Given the description of an element on the screen output the (x, y) to click on. 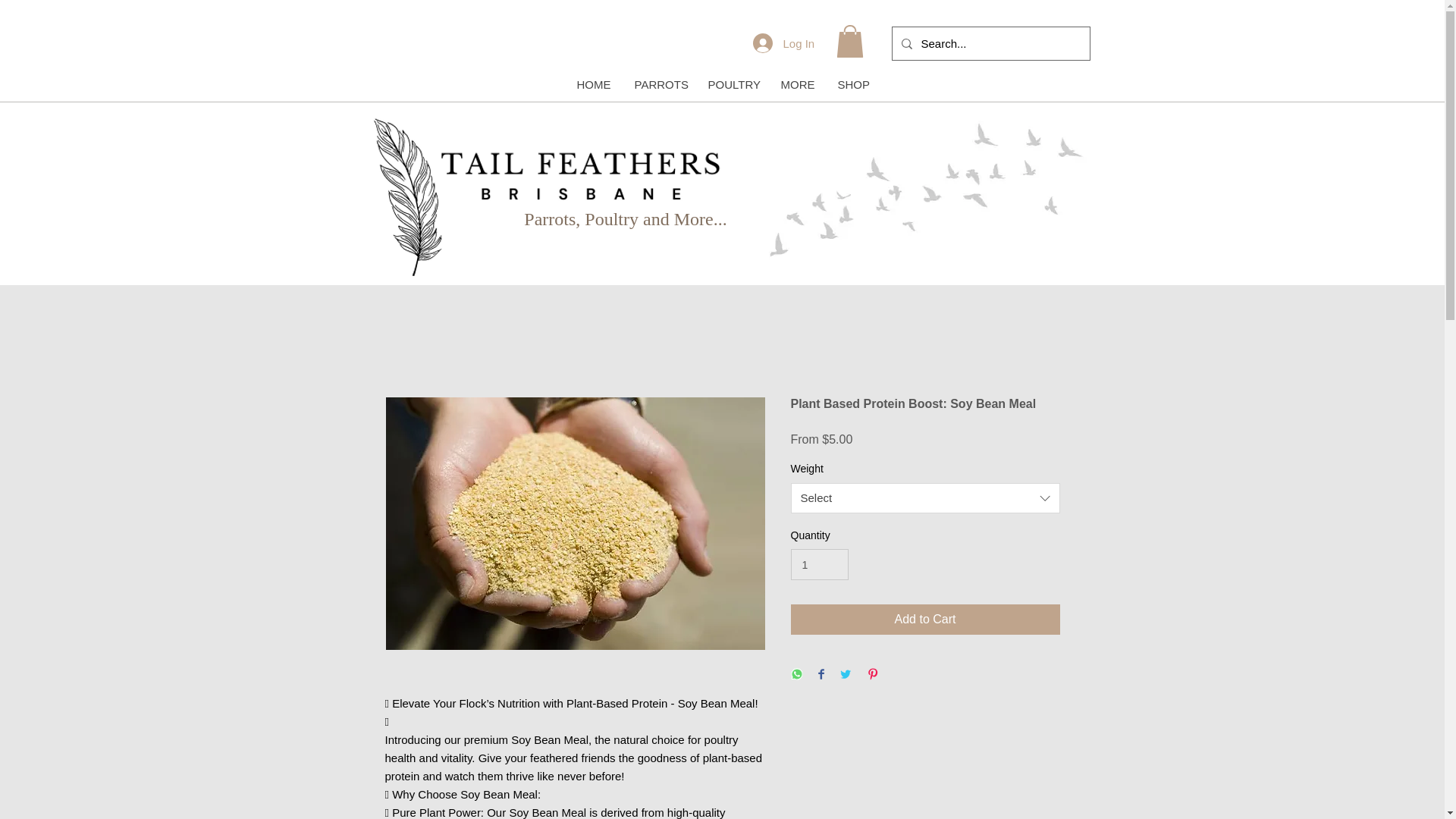
PARROTS (658, 84)
1 (818, 563)
Select (924, 498)
Add to Cart (924, 619)
POULTRY (731, 84)
MORE (796, 84)
HOME (592, 84)
Log In (781, 42)
SHOP (852, 84)
